Given the description of an element on the screen output the (x, y) to click on. 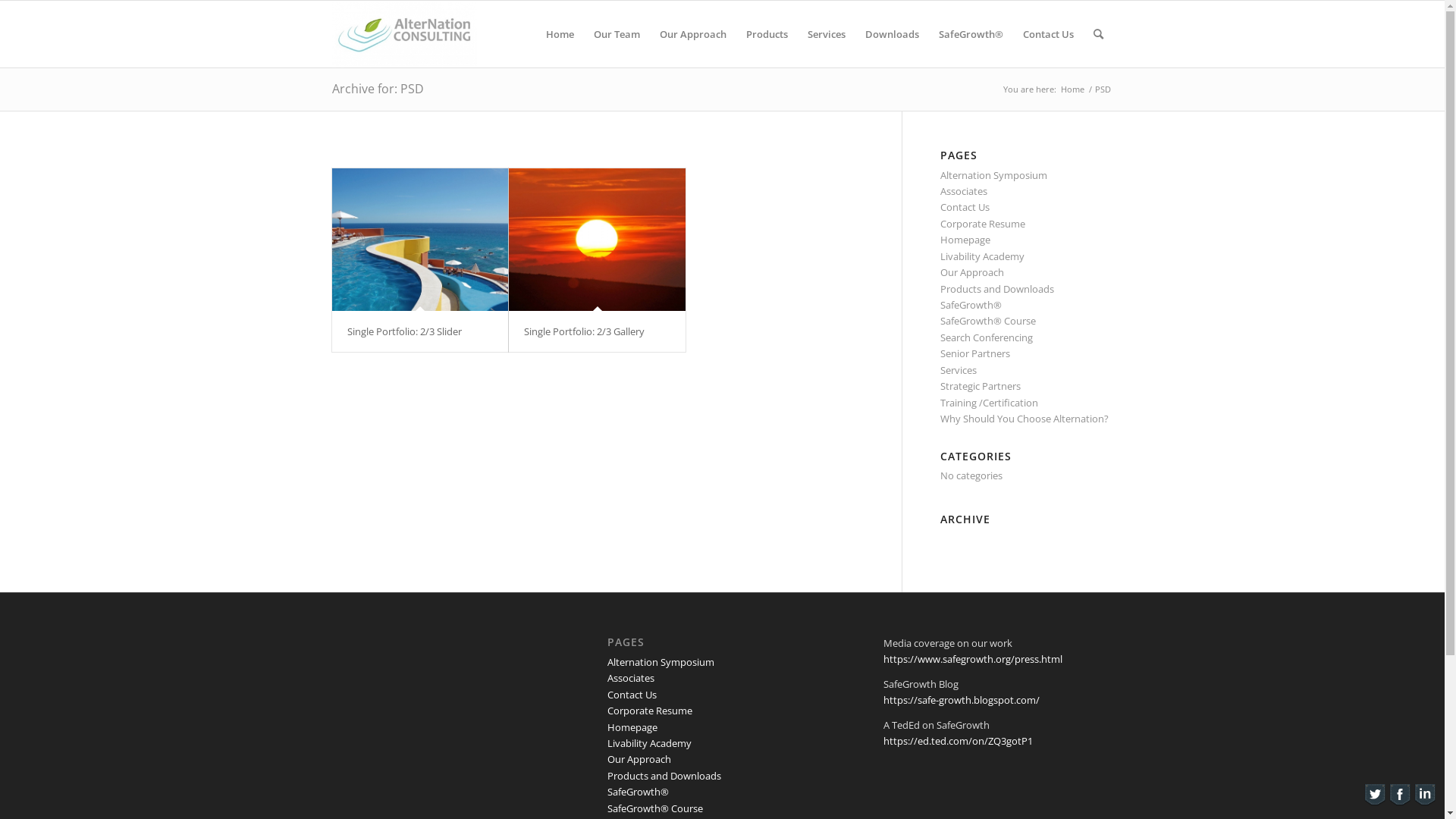
https://safe-growth.blogspot.com/ Element type: text (961, 699)
Single Portfolio: 2/3 Slider Element type: hover (420, 239)
Corporate Resume Element type: text (982, 223)
Associates Element type: text (630, 677)
Home Element type: text (559, 33)
https://www.safegrowth.org/press.html Element type: text (972, 658)
Alternation Symposium Element type: text (993, 175)
Our Approach Element type: text (972, 272)
Corporate Resume Element type: text (649, 710)
Products Element type: text (766, 33)
Livability Academy Element type: text (649, 742)
Our Team Element type: text (616, 33)
Products and Downloads Element type: text (997, 288)
Single Portfolio: 2/3 Gallery Element type: hover (596, 239)
https://ed.ted.com/on/ZQ3gotP1 Element type: text (957, 740)
Our Approach Element type: text (692, 33)
Strategic Partners Element type: text (980, 385)
Training /Certification Element type: text (989, 402)
Single Portfolio: 2/3 Slider Element type: text (404, 331)
Contact Us Element type: text (1048, 33)
Home Element type: text (1072, 88)
Senior Partners Element type: text (975, 353)
Products and Downloads Element type: text (664, 775)
Our Approach Element type: text (639, 758)
Visit us on Facebook Element type: hover (1399, 802)
Homepage Element type: text (965, 239)
Contact Us Element type: text (964, 206)
Archive for: PSD Element type: text (377, 88)
Contact Us Element type: text (631, 694)
Livability Academy Element type: text (982, 256)
Visit us on Twitter Element type: hover (1373, 802)
Visit us on LinkedIn Element type: hover (1424, 802)
Downloads Element type: text (891, 33)
Services Element type: text (826, 33)
Homepage Element type: text (632, 727)
Services Element type: text (958, 369)
Why Should You Choose Alternation? Element type: text (1024, 418)
Single Portfolio: 2/3 Gallery Element type: text (584, 331)
Search Conferencing Element type: text (986, 337)
Associates Element type: text (963, 190)
Alternation Symposium Element type: text (660, 661)
